Given the description of an element on the screen output the (x, y) to click on. 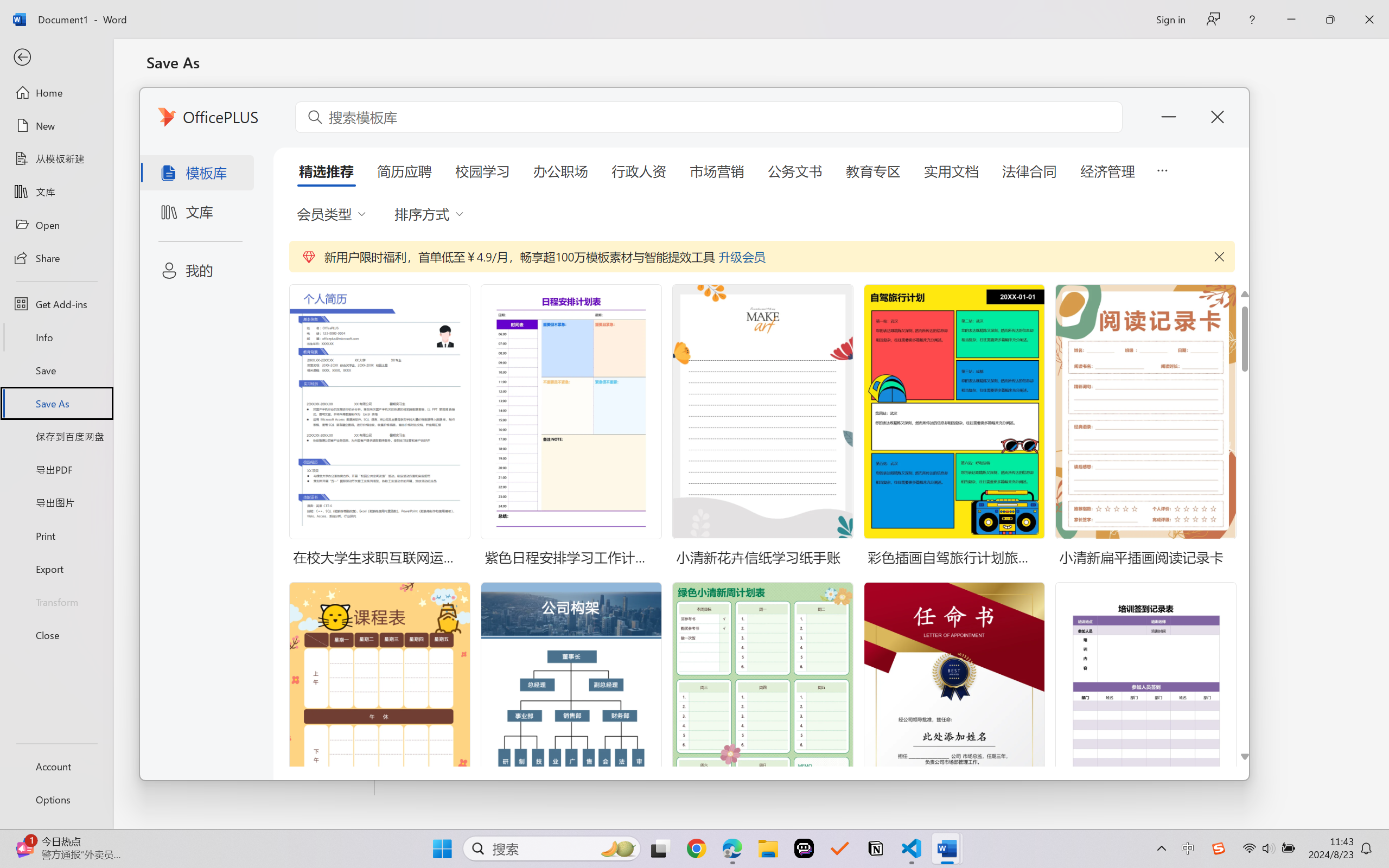
Recent (261, 106)
This PC (261, 307)
